Given the description of an element on the screen output the (x, y) to click on. 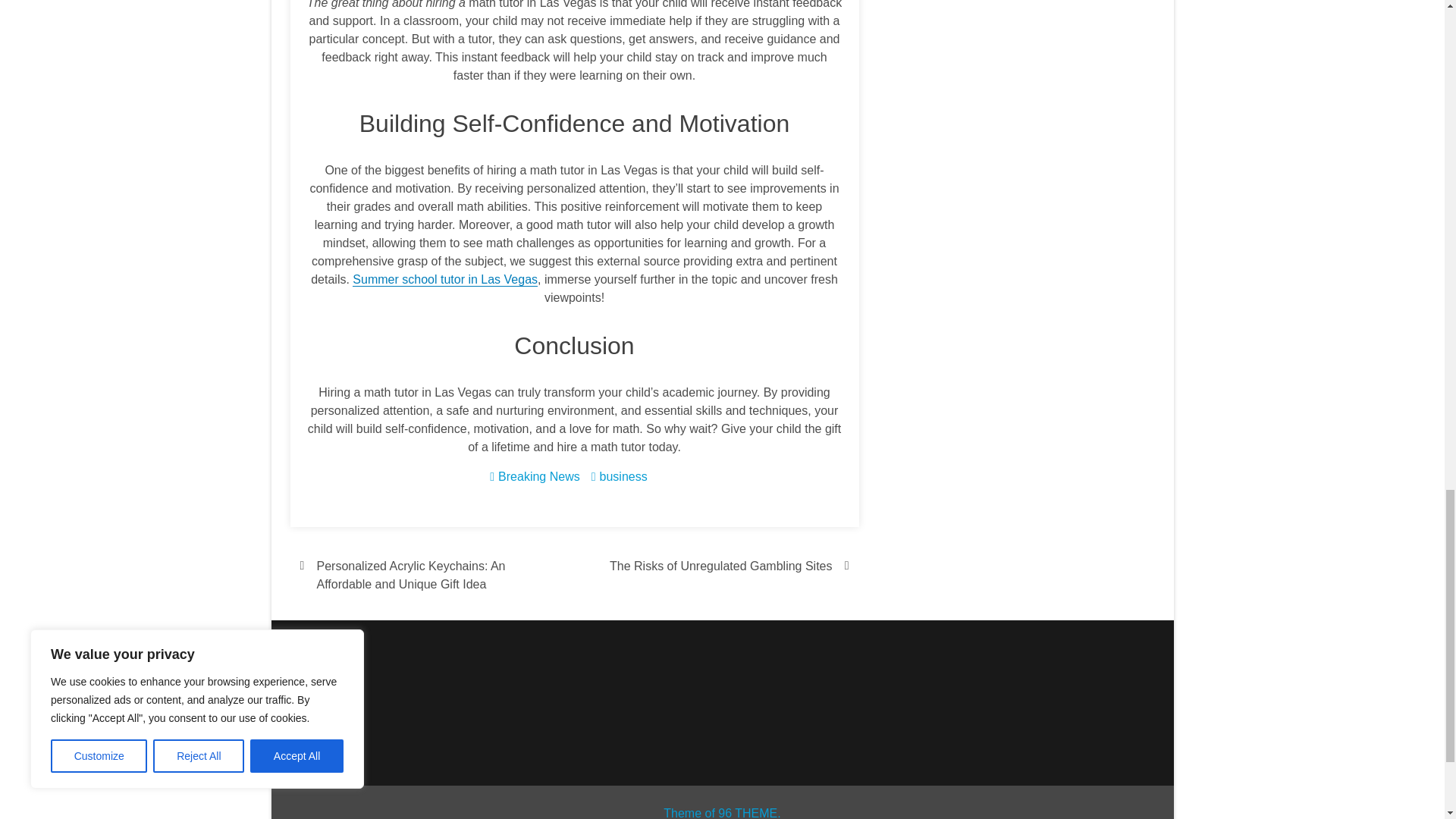
Summer school tutor in Las Vegas (444, 279)
The Risks of Unregulated Gambling Sites (716, 566)
business (623, 476)
Breaking News (538, 476)
